Given the description of an element on the screen output the (x, y) to click on. 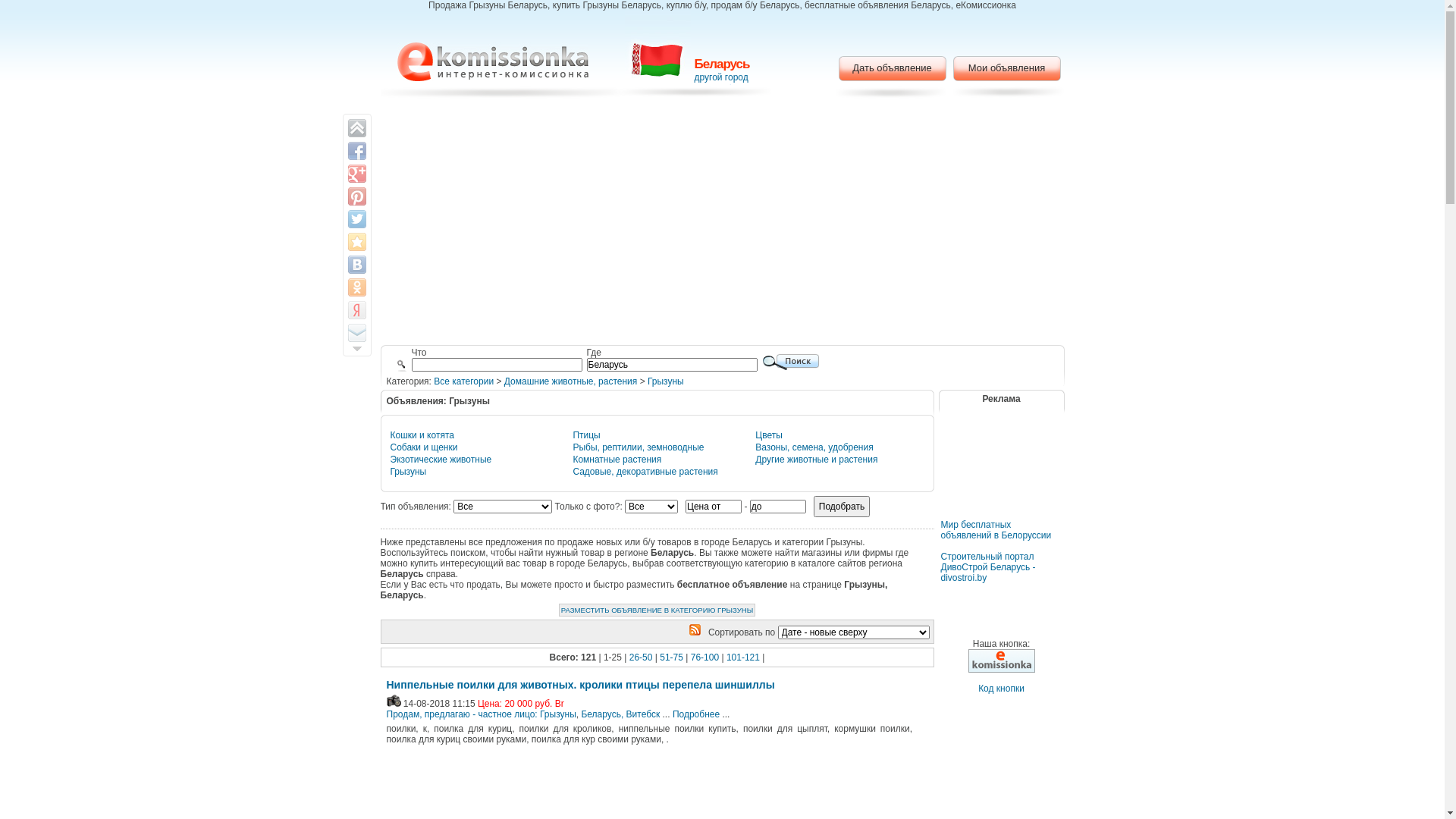
Pin It Element type: hover (356, 196)
Share on VK Element type: hover (356, 264)
26-50 Element type: text (640, 657)
Share to Odnoklassniki.ru Element type: hover (356, 287)
Save to Browser Favorites Element type: hover (356, 241)
76-100 Element type: text (704, 657)
Advertisement Element type: hover (722, 223)
Advertisement Element type: hover (1000, 474)
Share on Google+ Element type: hover (356, 173)
Share on Twitter Element type: hover (356, 219)
Save to Yandex Bookmarks Element type: hover (356, 310)
Email this to a friend Element type: hover (356, 332)
Back on top Element type: hover (356, 128)
51-75 Element type: text (671, 657)
Share on Facebook Element type: hover (356, 150)
101-121 Element type: text (742, 657)
